Given the description of an element on the screen output the (x, y) to click on. 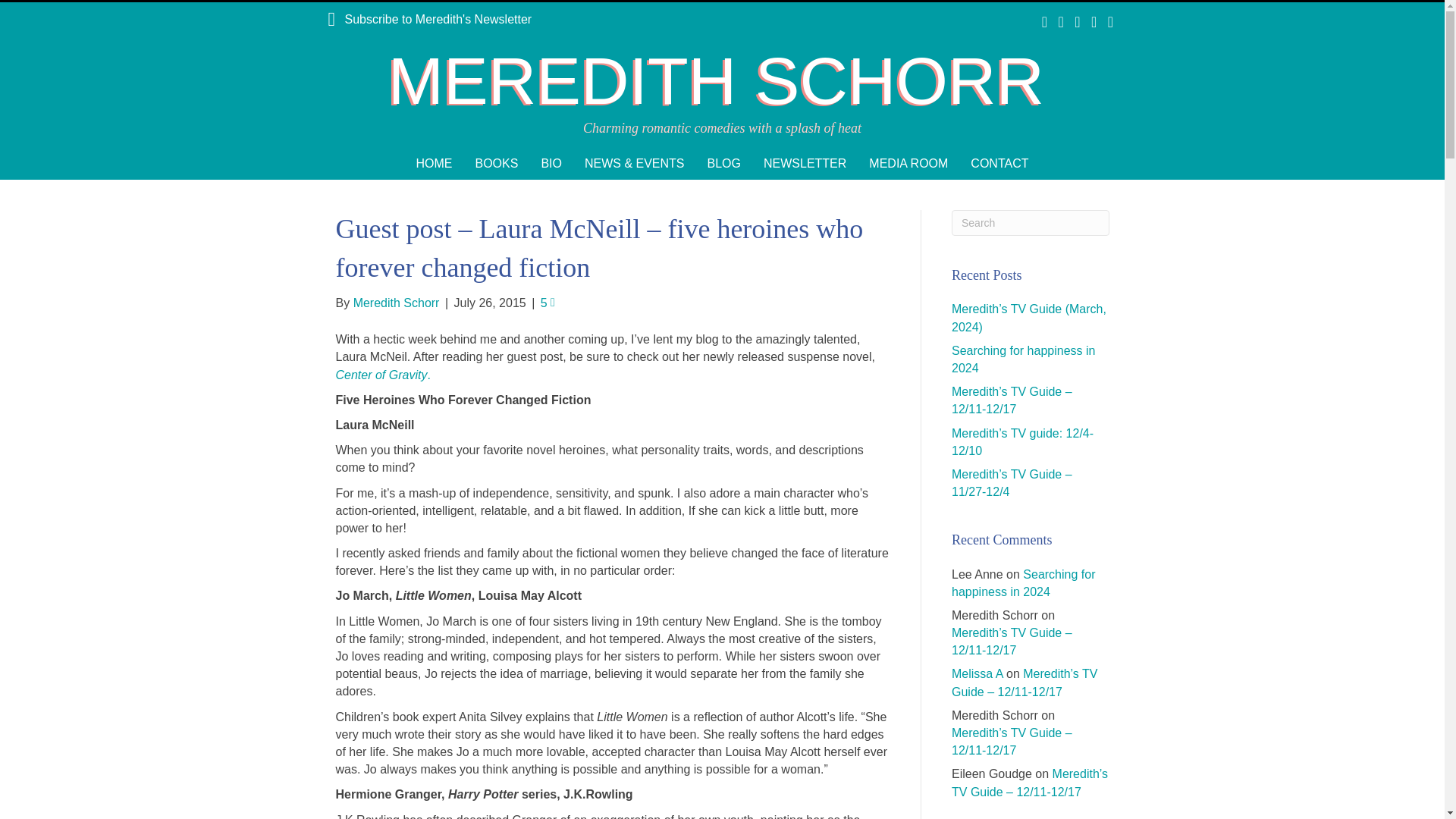
Type and press Enter to search. (1030, 222)
NEWSLETTER (804, 163)
CONTACT (999, 163)
HOME (433, 163)
MEREDITH SCHORR (722, 81)
Center of Gravity.  (383, 374)
BIO (551, 163)
BLOG (723, 163)
MEDIA ROOM (908, 163)
5 (547, 302)
